Given the description of an element on the screen output the (x, y) to click on. 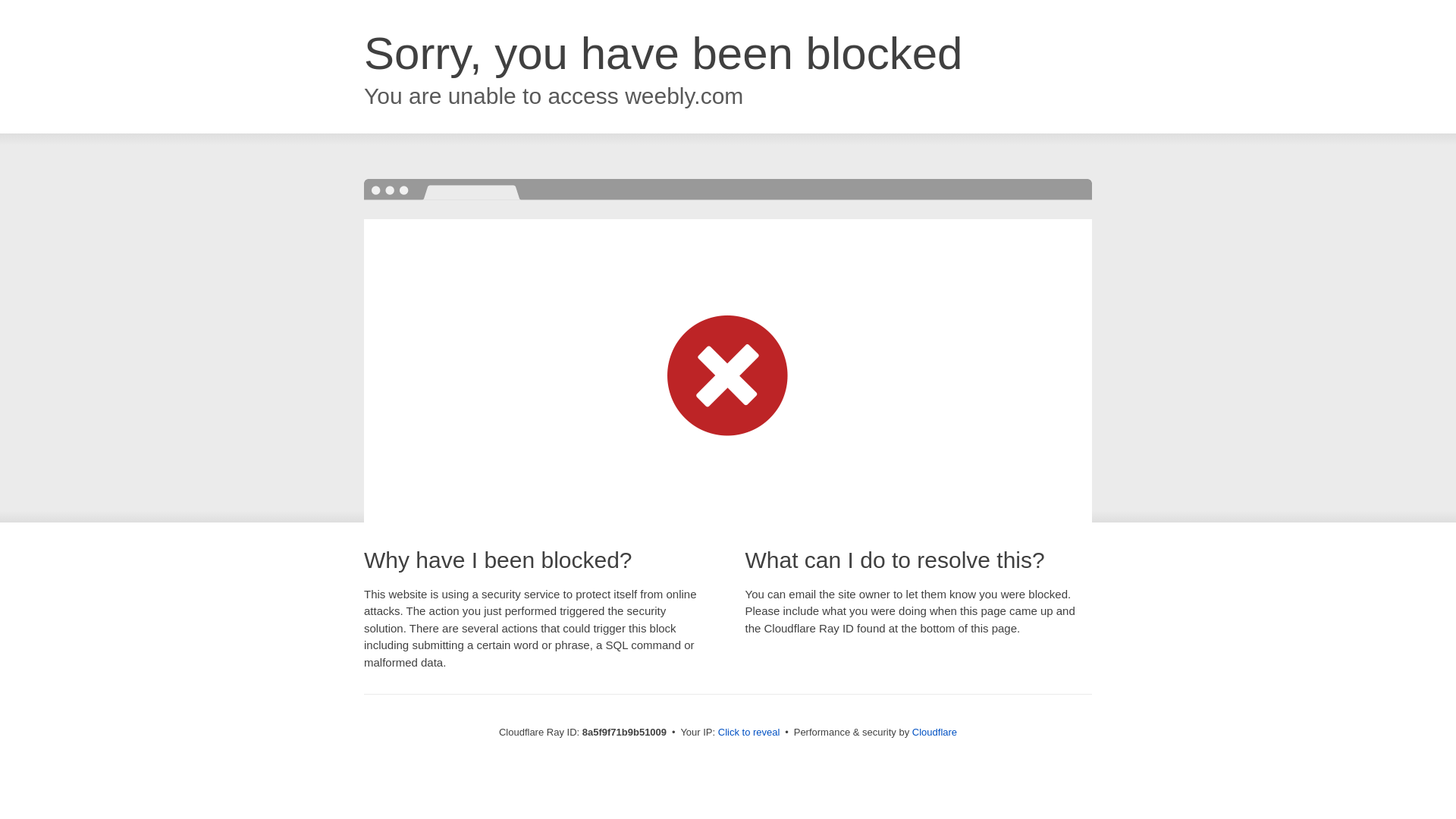
Click to reveal (748, 732)
Cloudflare (934, 731)
